Given the description of an element on the screen output the (x, y) to click on. 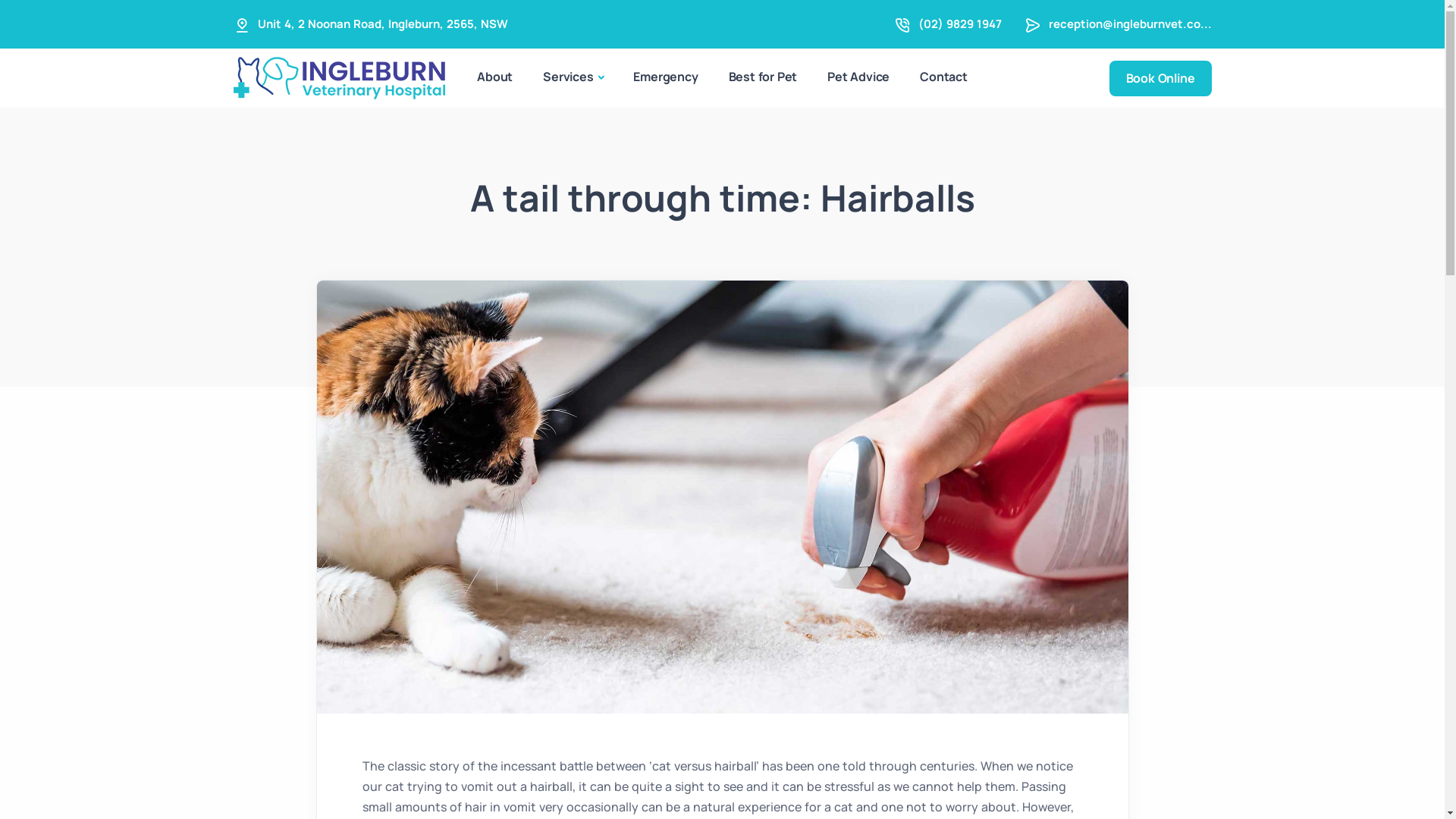
reception@ingleburnvet.co... Element type: text (1129, 23)
(02) 9829 1947 Element type: text (959, 23)
Book Online Element type: text (1160, 78)
Best for Pet Element type: text (762, 76)
Emergency Element type: text (665, 76)
Contact Element type: text (943, 76)
Pet Advice Element type: text (858, 76)
About Element type: text (494, 76)
Unit 4, 2 Noonan Road, Ingleburn, 2565, NSW Element type: text (382, 23)
Services Element type: text (572, 77)
